Given the description of an element on the screen output the (x, y) to click on. 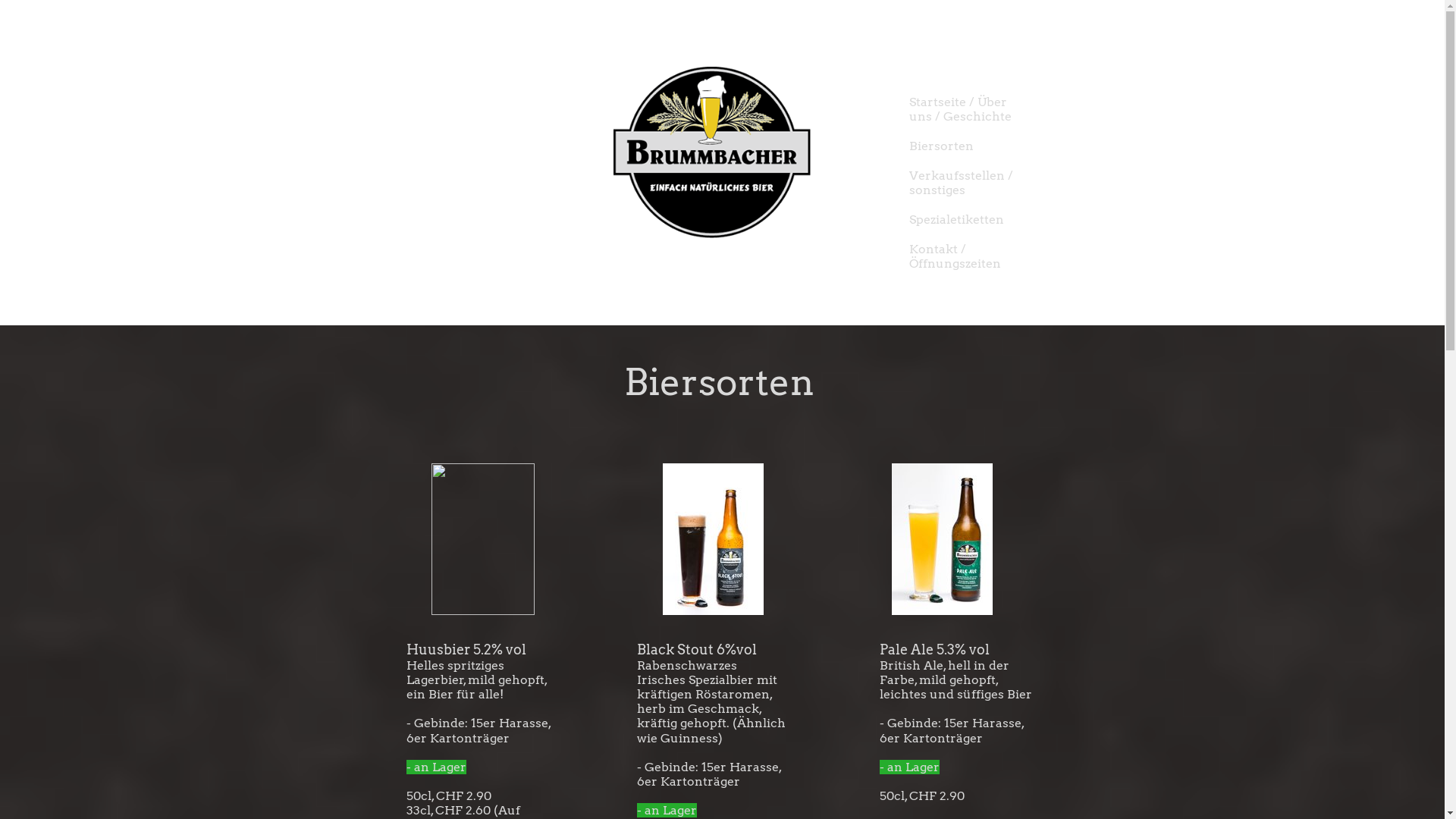
Biersorten Element type: text (980, 145)
Verkaufsstellen / sonstiges Element type: text (980, 182)
Spezialetiketten Element type: text (980, 219)
